Given the description of an element on the screen output the (x, y) to click on. 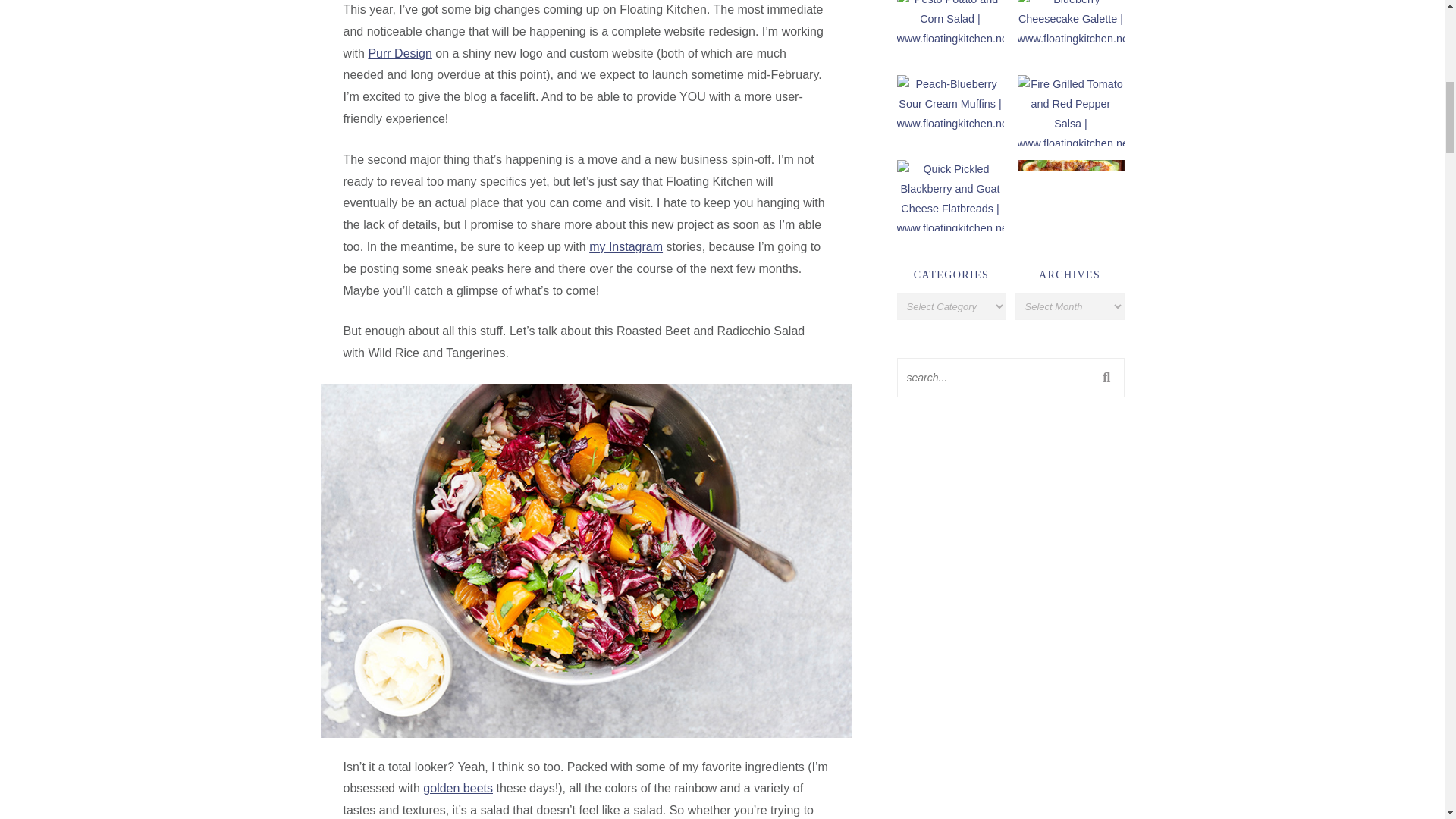
golden beets (458, 788)
Purr Design (399, 52)
my Instagram (625, 246)
